Given the description of an element on the screen output the (x, y) to click on. 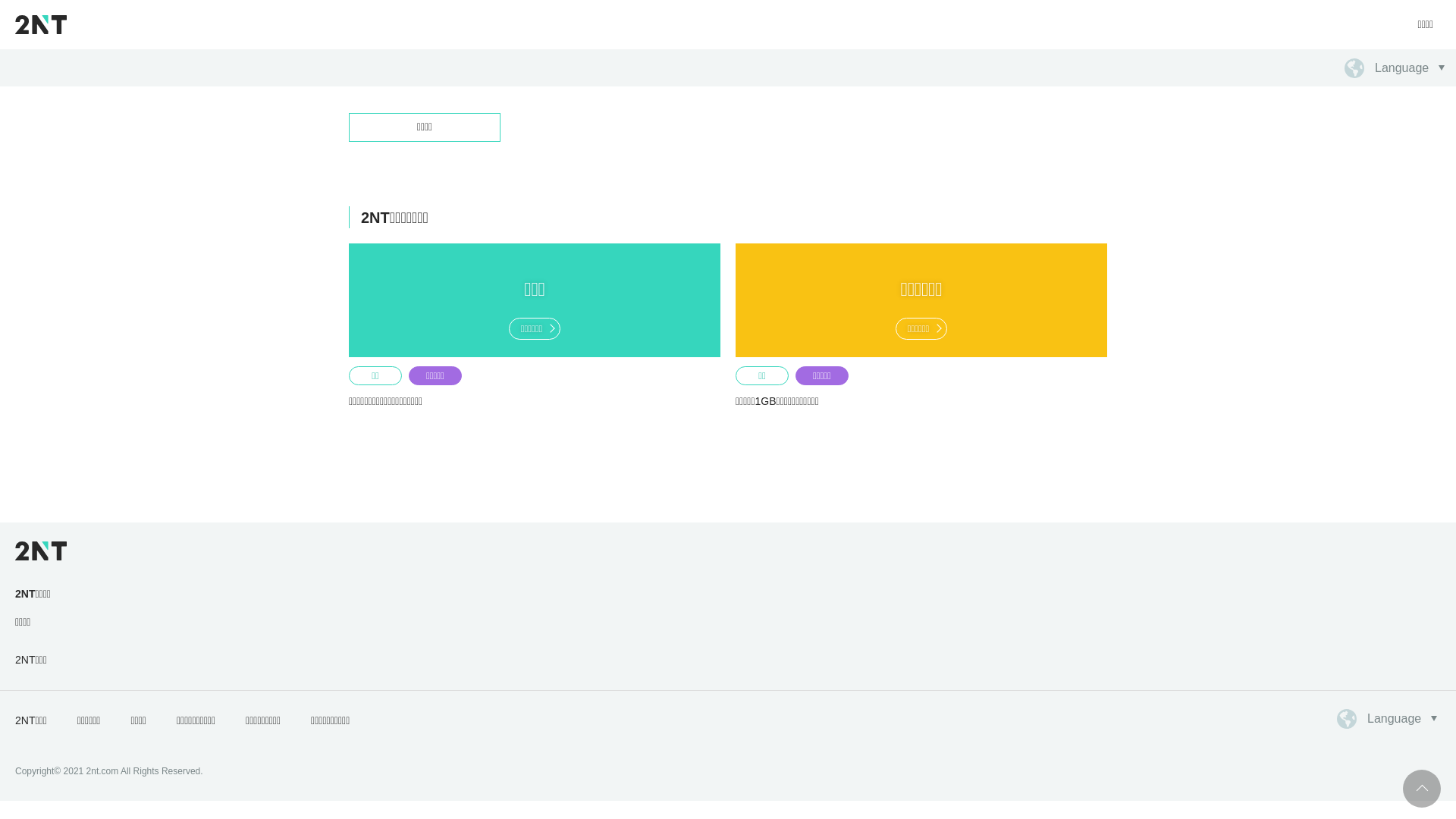
2NT Element type: hover (40, 24)
